Given the description of an element on the screen output the (x, y) to click on. 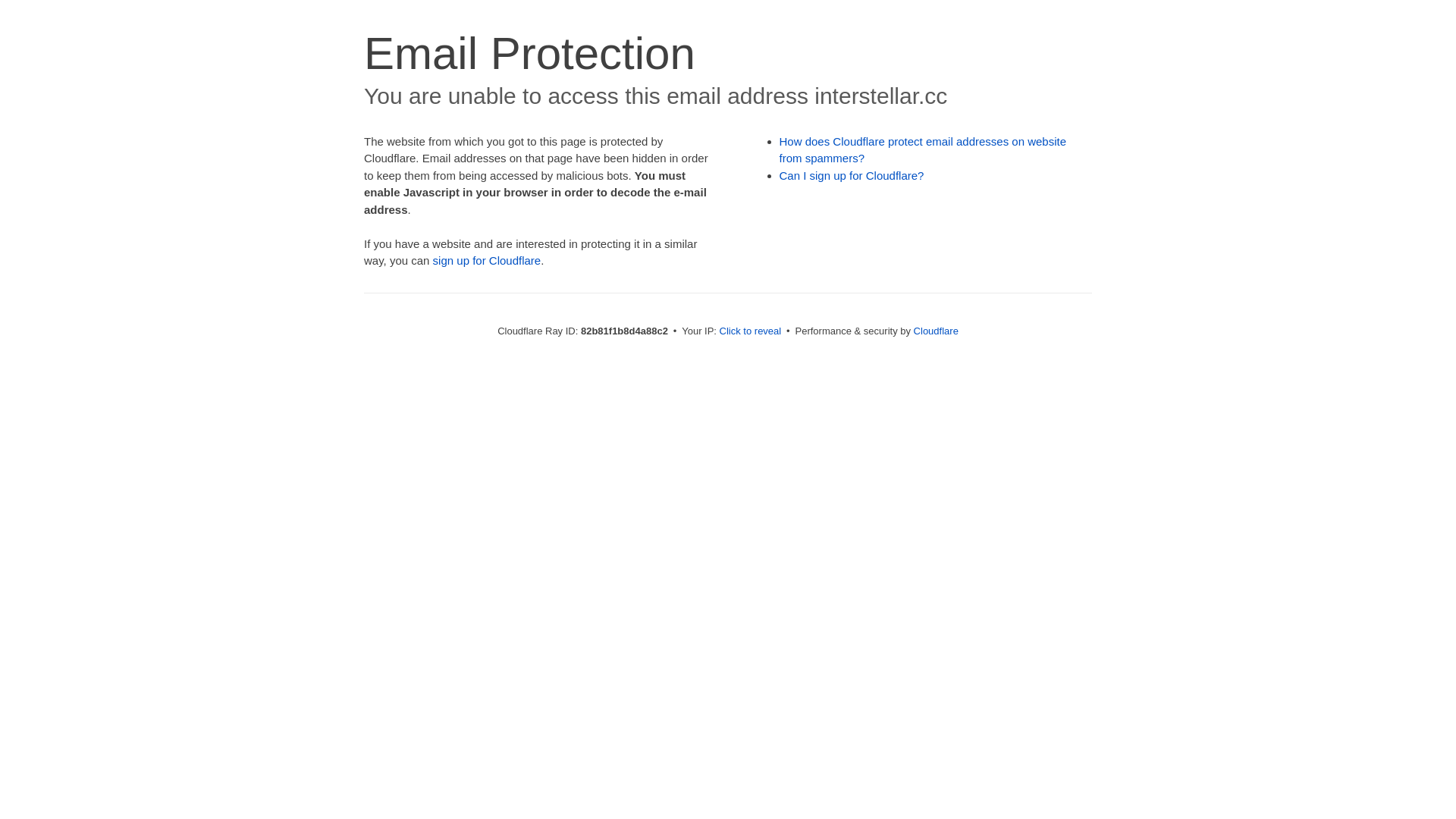
Click to reveal Element type: text (750, 330)
Cloudflare Element type: text (935, 330)
sign up for Cloudflare Element type: text (487, 260)
Can I sign up for Cloudflare? Element type: text (851, 175)
